Given the description of an element on the screen output the (x, y) to click on. 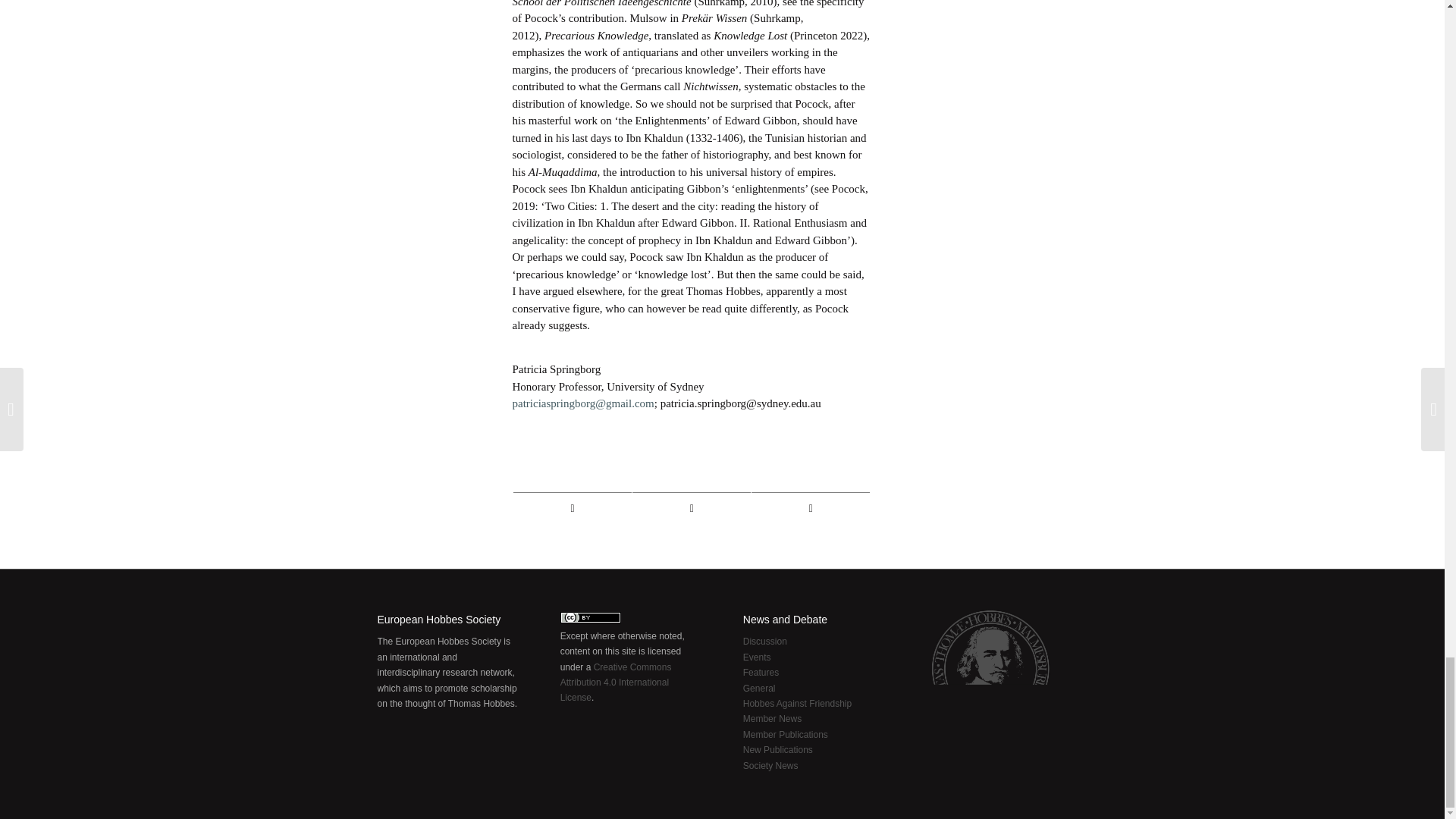
General (759, 688)
Hobbes Against Friendship (796, 703)
Discussion (764, 641)
Member Publications (785, 734)
Features (760, 672)
Creative Commons Attribution 4.0 International License (615, 682)
Events (756, 656)
Member News (772, 718)
